Given the description of an element on the screen output the (x, y) to click on. 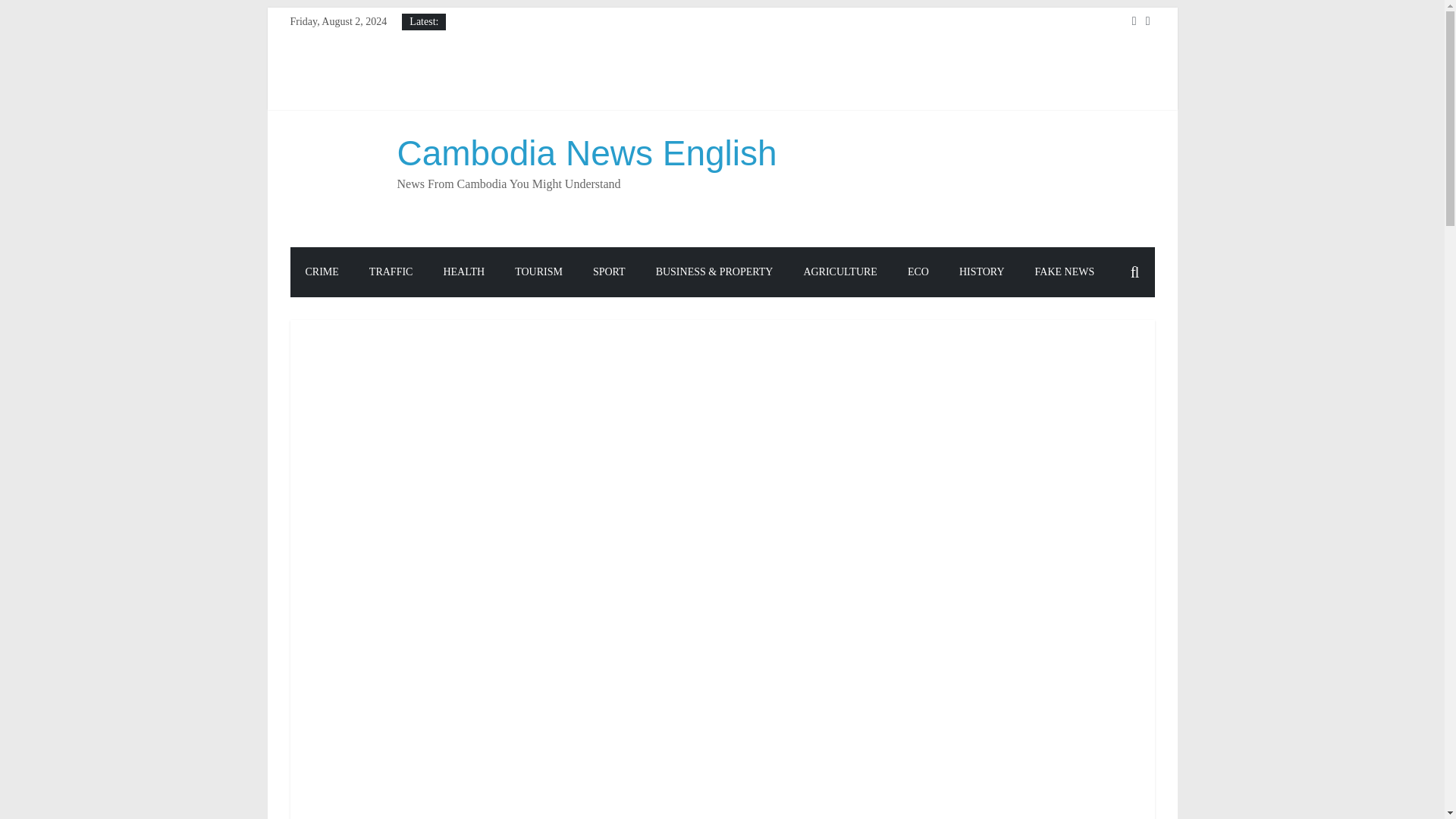
Cambodia News English (587, 152)
SPORT (609, 272)
HISTORY (981, 272)
TOURISM (538, 272)
TRAFFIC (390, 272)
FAKE NEWS (1064, 272)
AGRICULTURE (839, 272)
ECO (917, 272)
Cambodia News English (587, 152)
HEALTH (463, 272)
CRIME (321, 272)
